Given the description of an element on the screen output the (x, y) to click on. 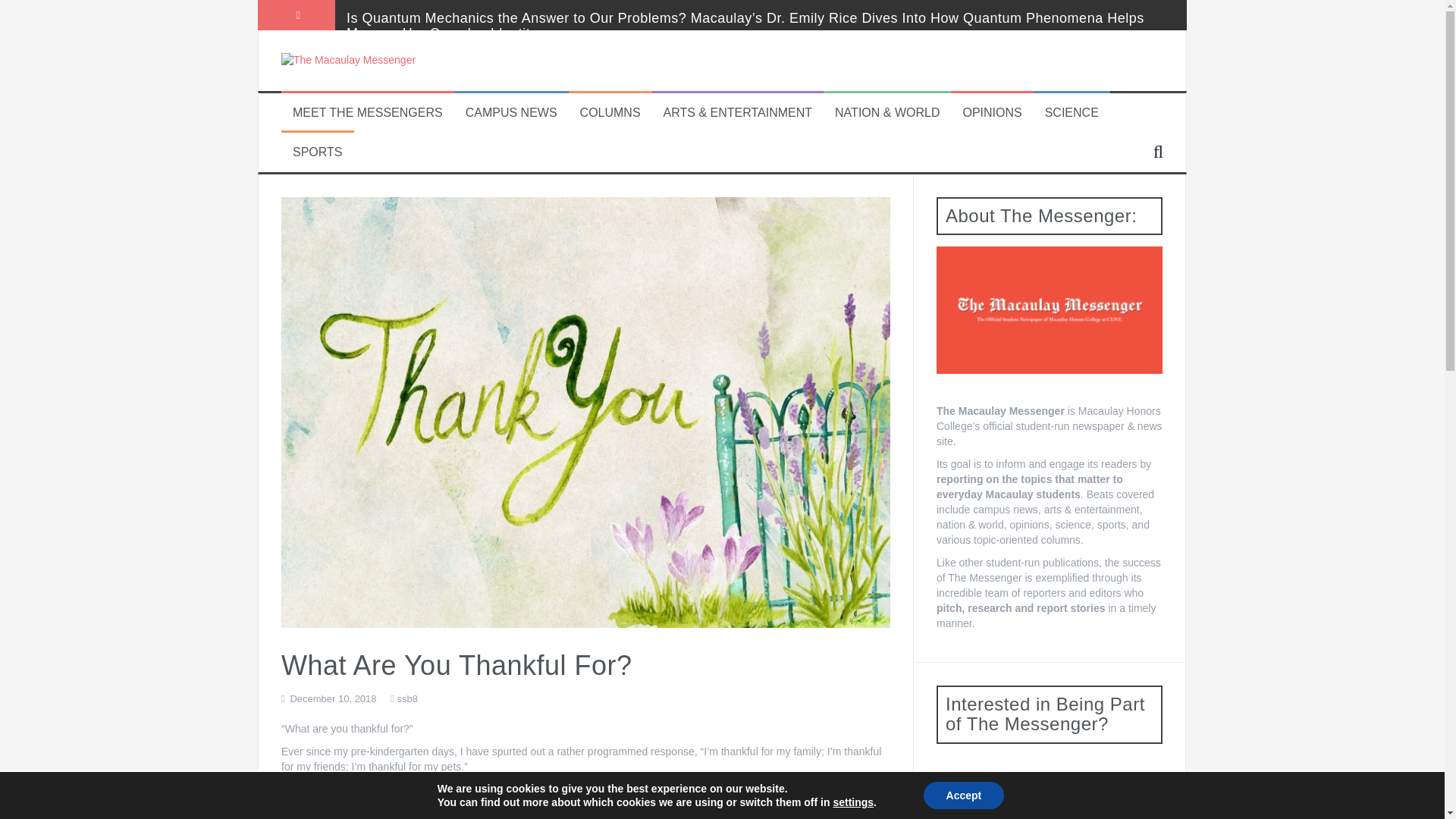
CAMPUS NEWS (511, 113)
MEET THE MESSENGERS (367, 113)
SPORTS (317, 152)
SCIENCE (1072, 113)
OPINIONS (992, 113)
The Macaulay Messenger (347, 60)
COLUMNS (609, 113)
